Given the description of an element on the screen output the (x, y) to click on. 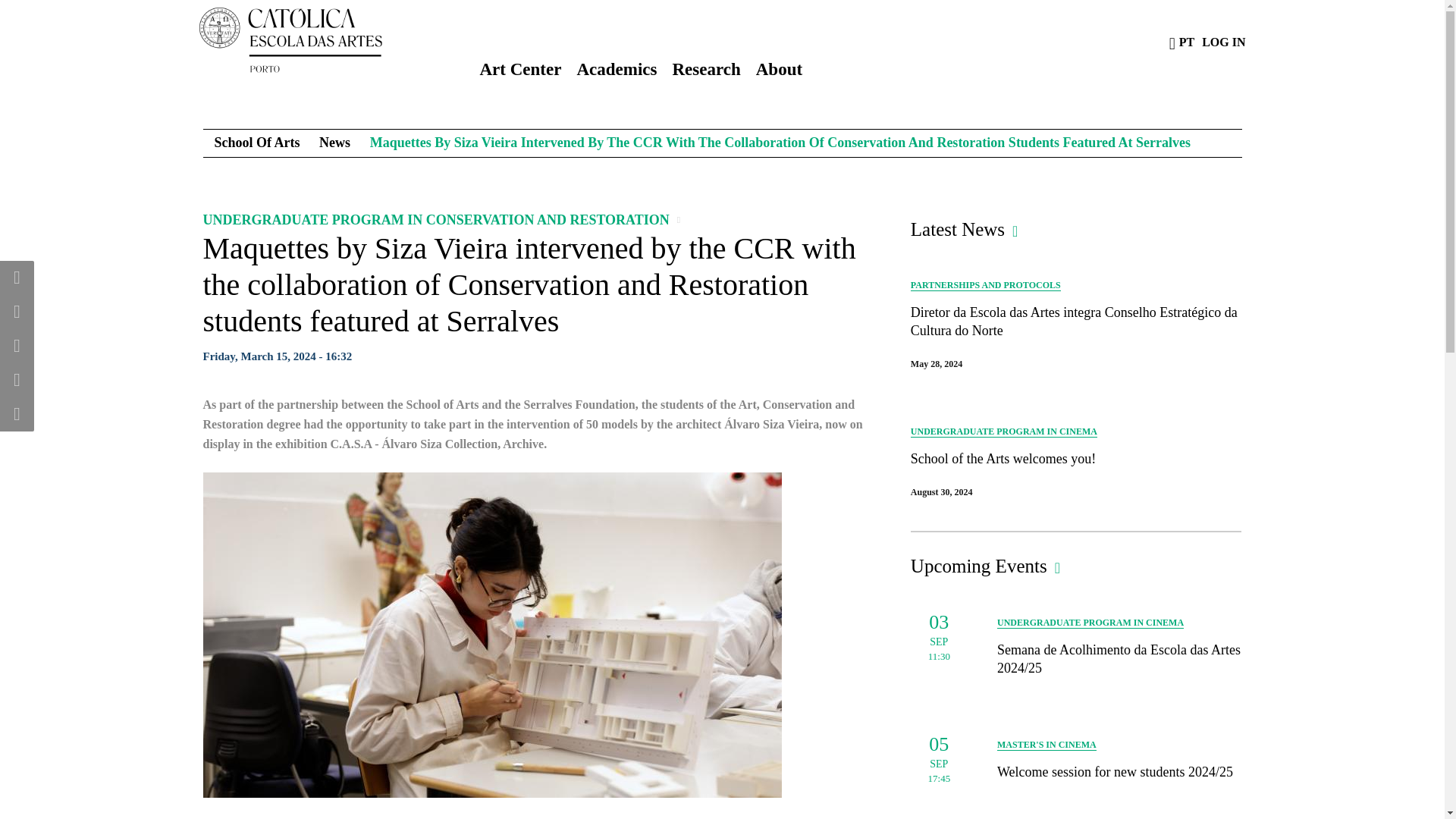
Home (323, 39)
Academics (616, 73)
Art Center (520, 73)
